Given the description of an element on the screen output the (x, y) to click on. 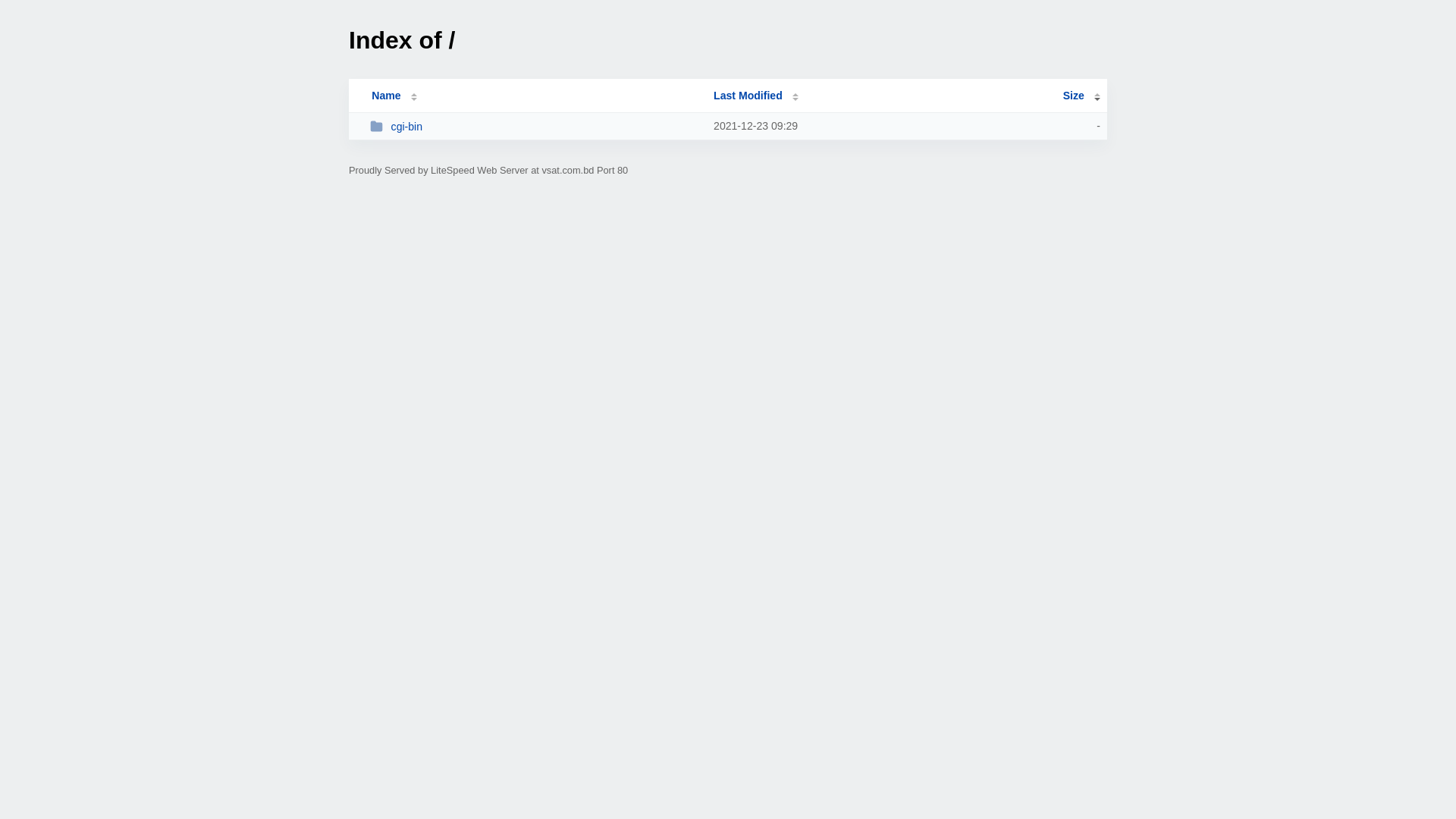
cgi-bin Element type: text (534, 125)
Name Element type: text (385, 95)
Last Modified Element type: text (755, 95)
Size Element type: text (1081, 95)
